Given the description of an element on the screen output the (x, y) to click on. 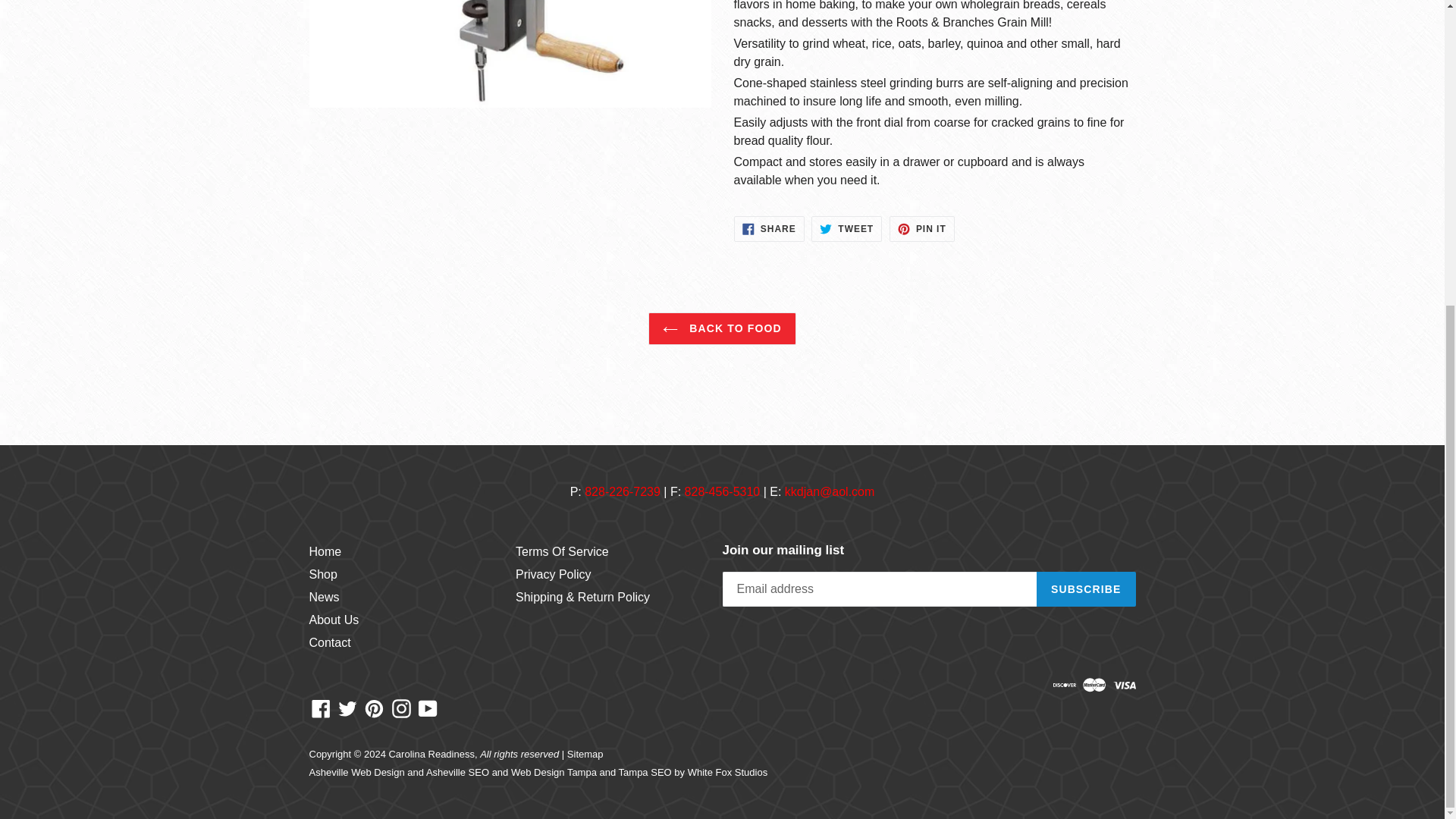
Pin on Pinterest (922, 228)
Carolina Readiness on Pinterest (373, 707)
Share on Facebook (769, 228)
Carolina Readiness on YouTube (427, 707)
Carolina Readiness on Twitter (347, 707)
Tweet on Twitter (846, 228)
Asheville Web Design (356, 772)
Carolina Readiness on Facebook (320, 707)
Asheville SEO (457, 772)
Carolina Readiness on Instagram (401, 707)
